Given the description of an element on the screen output the (x, y) to click on. 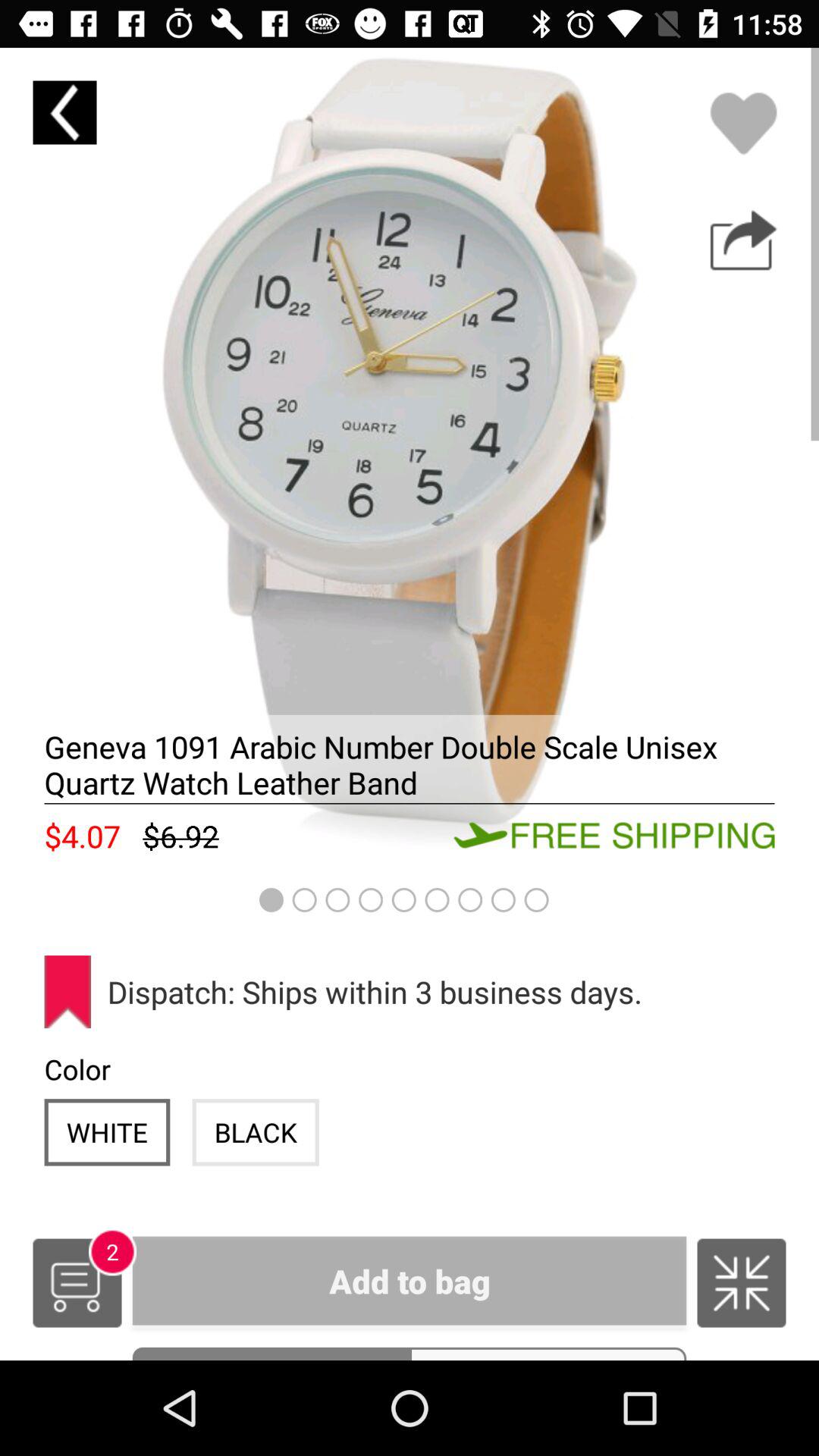
click white (107, 1131)
